Given the description of an element on the screen output the (x, y) to click on. 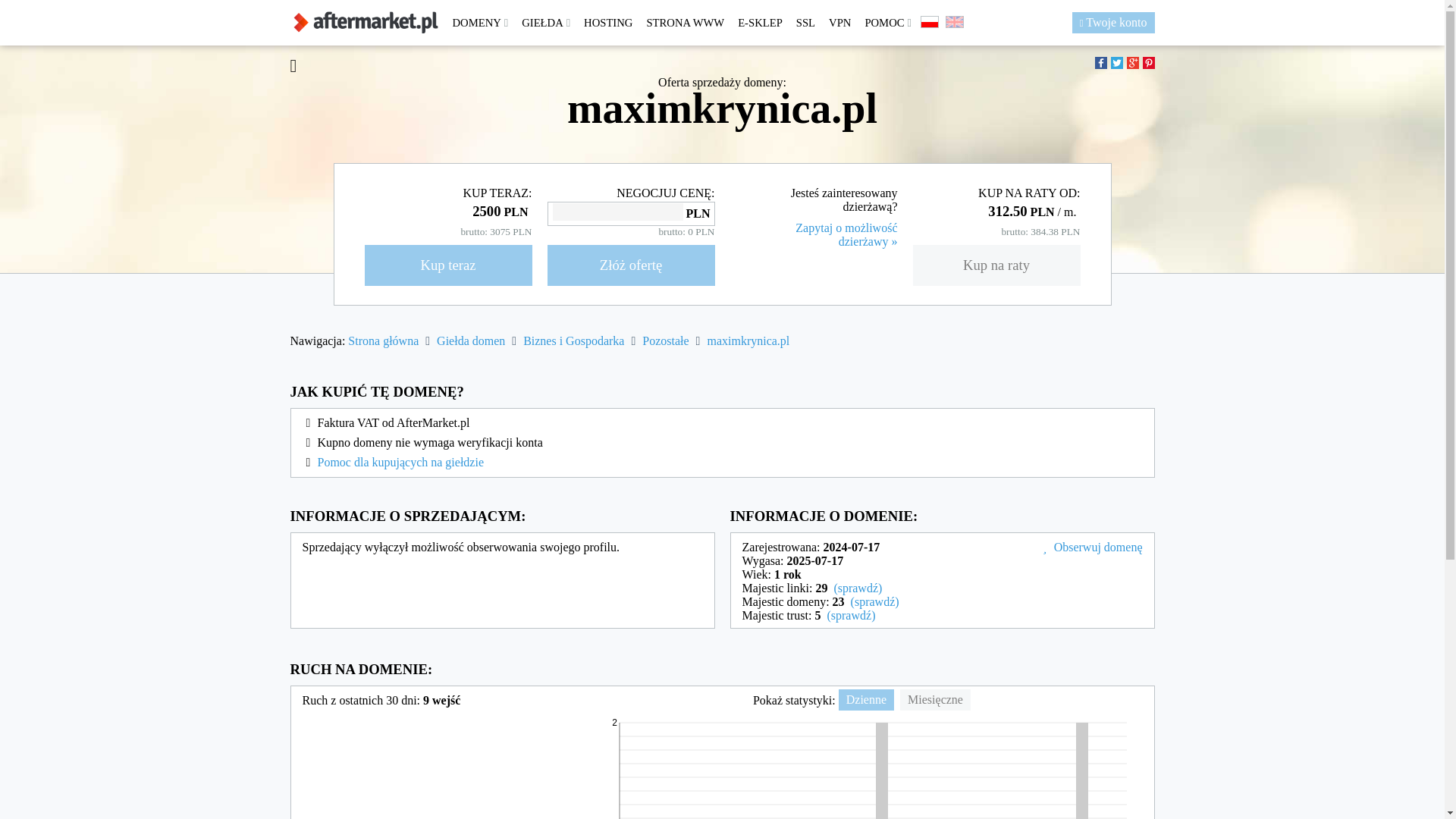
logo aftermarket (365, 22)
DOMENY (480, 22)
Twoje konto (1112, 22)
